Given the description of an element on the screen output the (x, y) to click on. 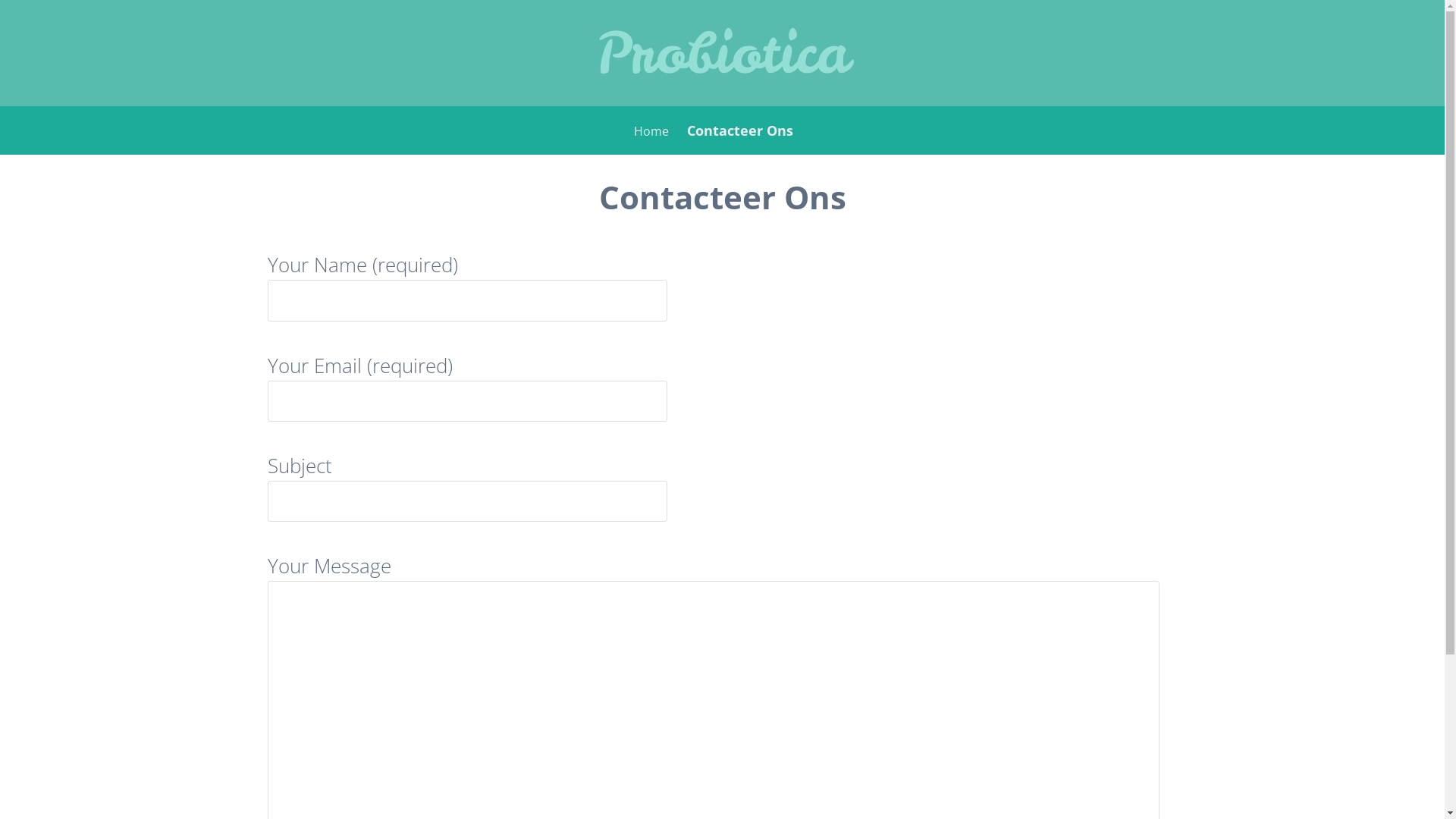
Skip to content Element type: text (43, 119)
Contacteer Ons Element type: text (740, 130)
Probiotica Element type: text (722, 52)
Home Element type: text (650, 130)
